Given the description of an element on the screen output the (x, y) to click on. 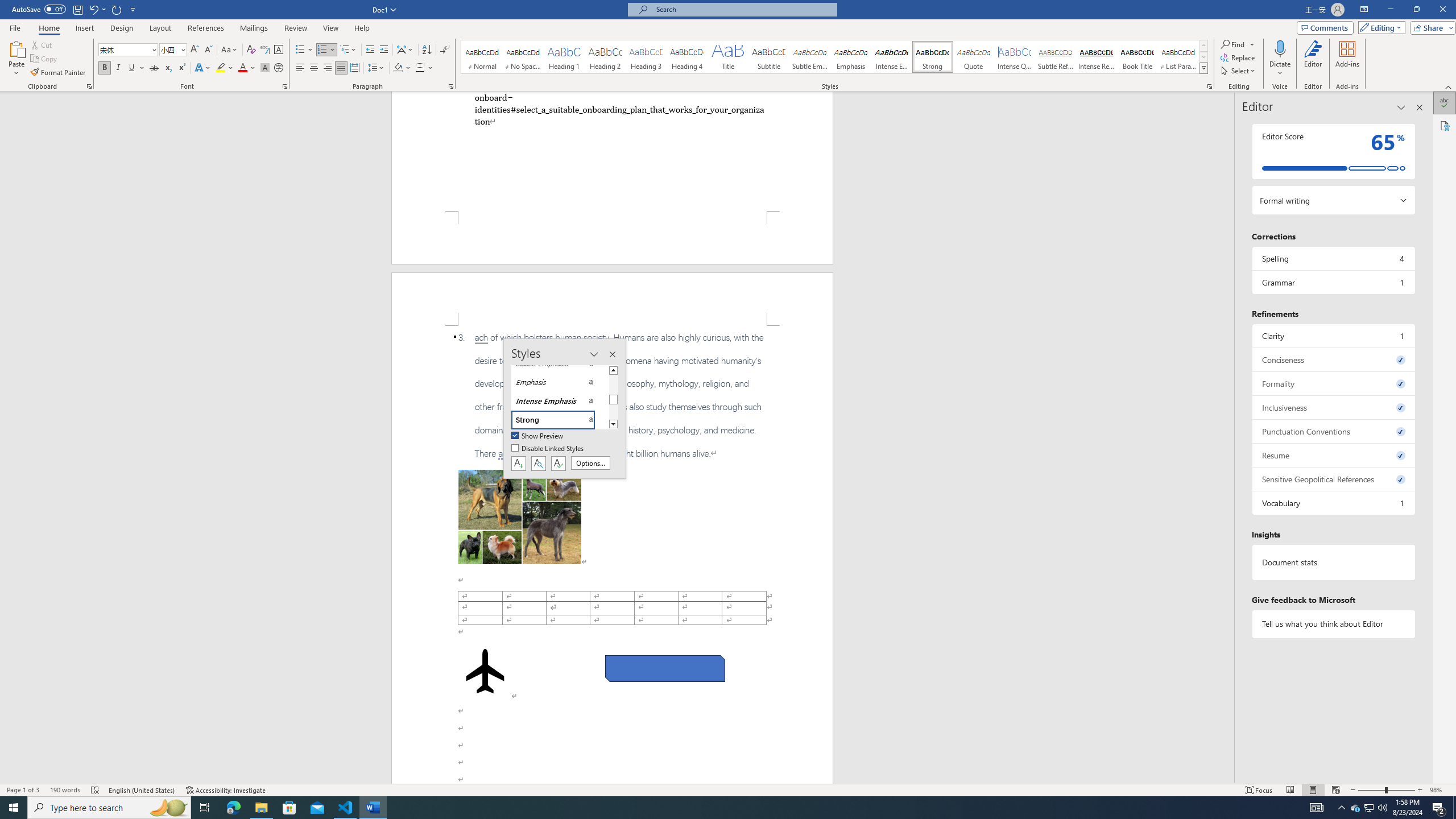
Grammar, 1 issue. Press space or enter to review items. (1333, 282)
Quote (973, 56)
Intense Reference (1095, 56)
